Given the description of an element on the screen output the (x, y) to click on. 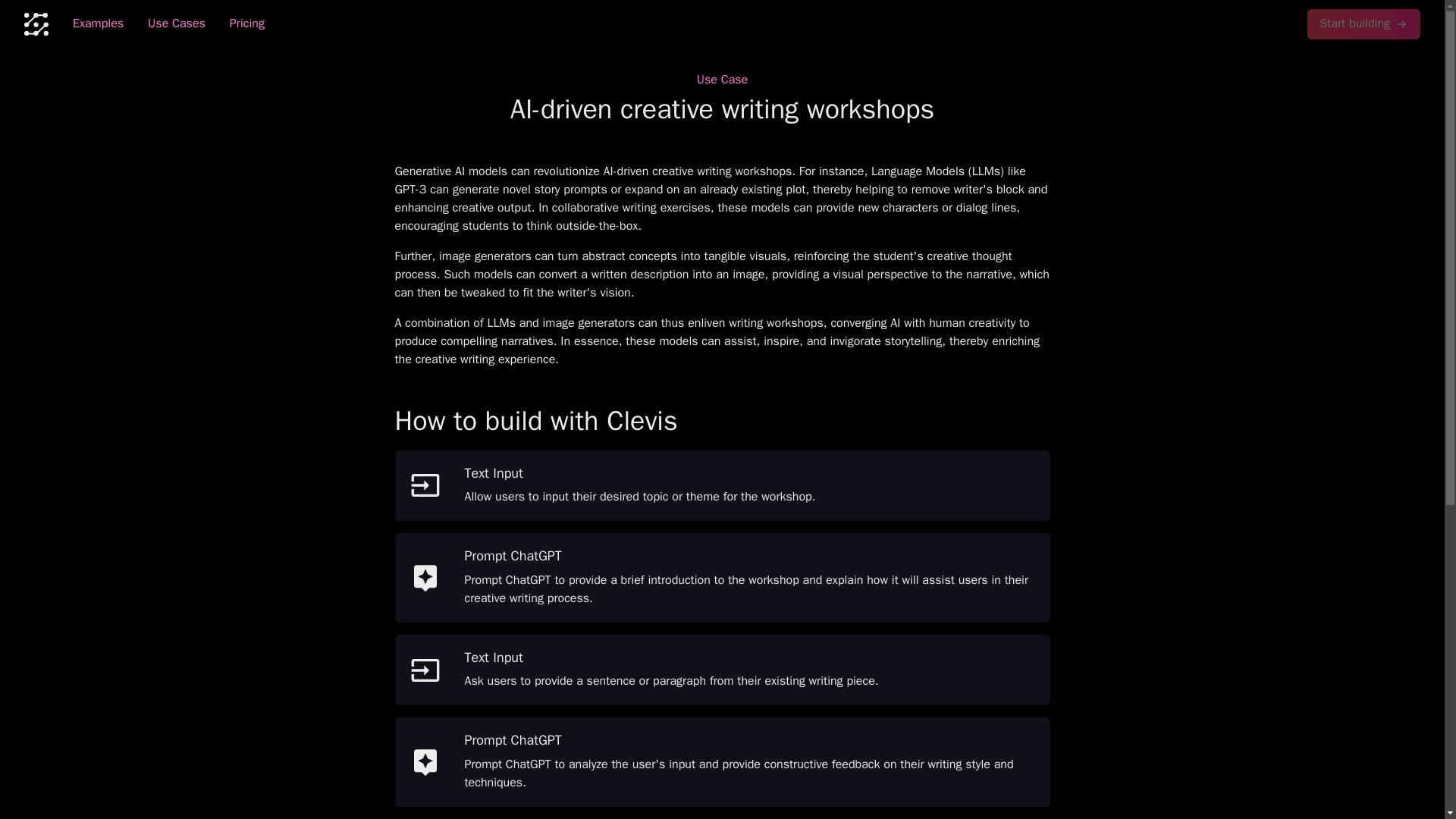
Pricing (246, 24)
Examples (98, 24)
Start building (1364, 24)
Use Cases (175, 24)
